Given the description of an element on the screen output the (x, y) to click on. 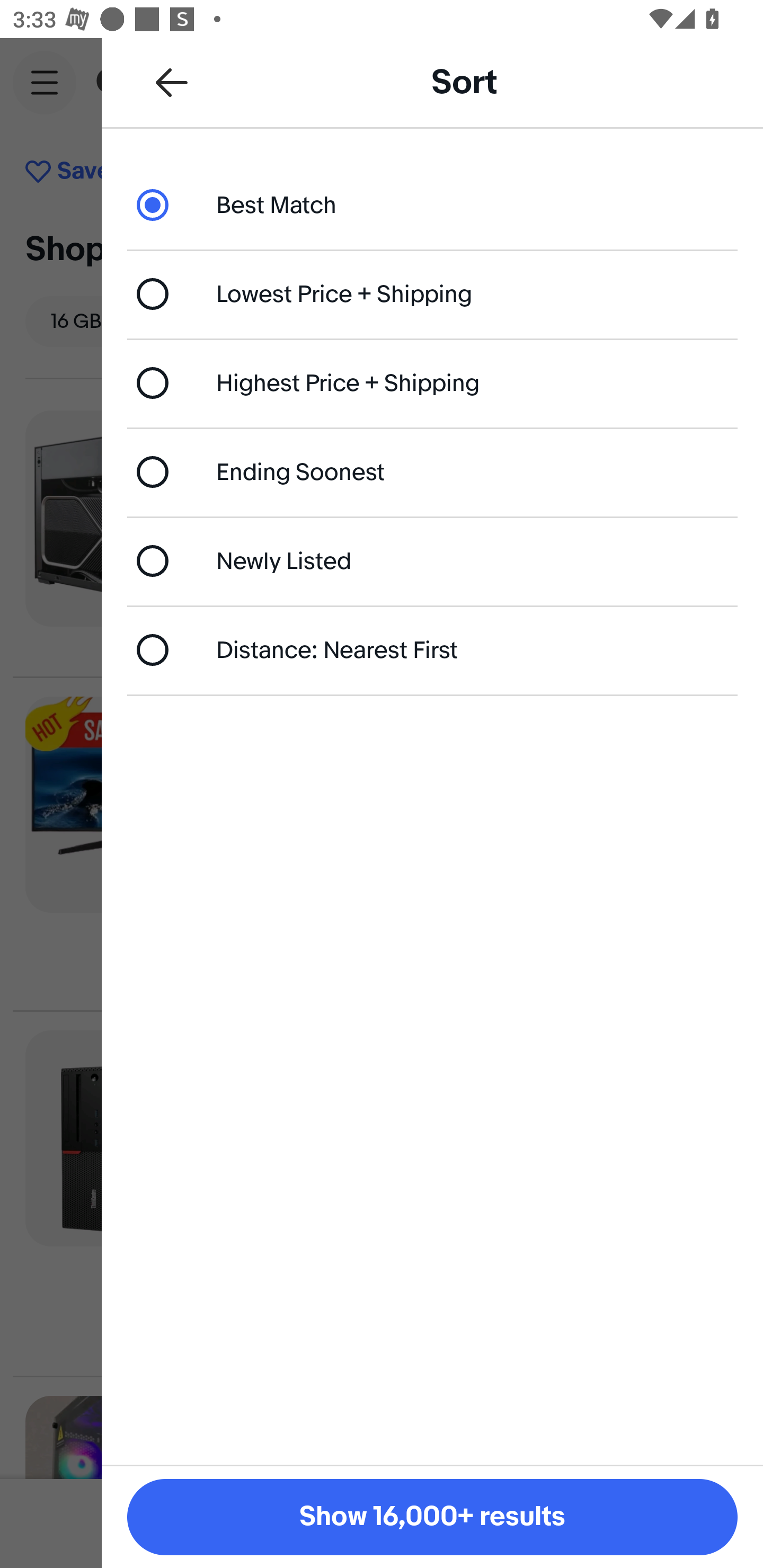
Back to all refinements (171, 81)
Best Match - currently selected Best Match (432, 204)
Lowest Price + Shipping (432, 293)
Highest Price + Shipping (432, 383)
Ending Soonest (432, 471)
Newly Listed (432, 560)
Distance: Nearest First (432, 649)
Show 16,000+ results (432, 1516)
